Given the description of an element on the screen output the (x, y) to click on. 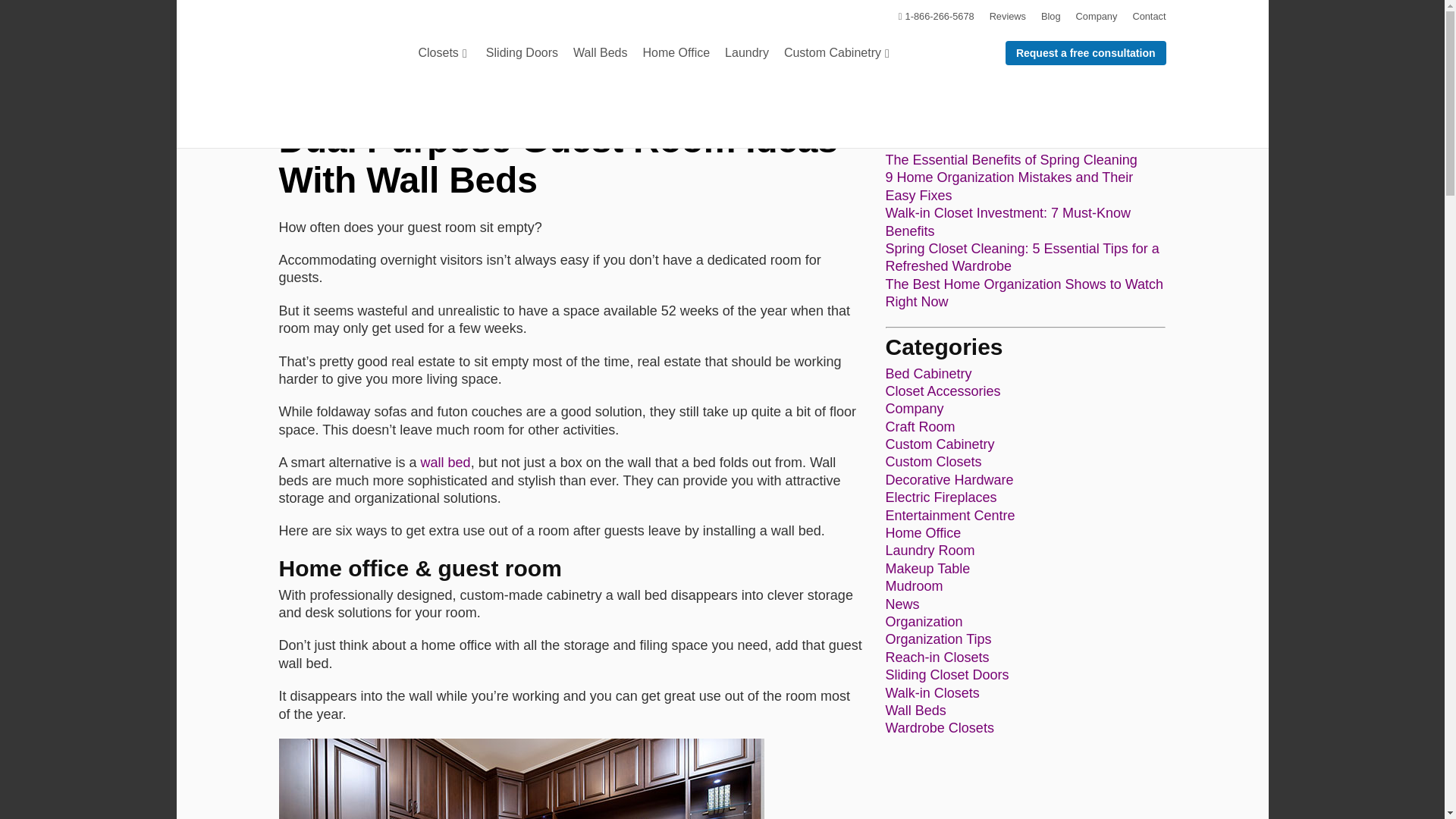
Wall Beds (600, 59)
Reviews (1007, 17)
Laundry (746, 59)
Closets (444, 59)
Sliding Doors (522, 59)
Home Office (675, 59)
Custom Cabinetry (838, 59)
1-866-266-5678 (934, 17)
Blog (1050, 17)
